Given the description of an element on the screen output the (x, y) to click on. 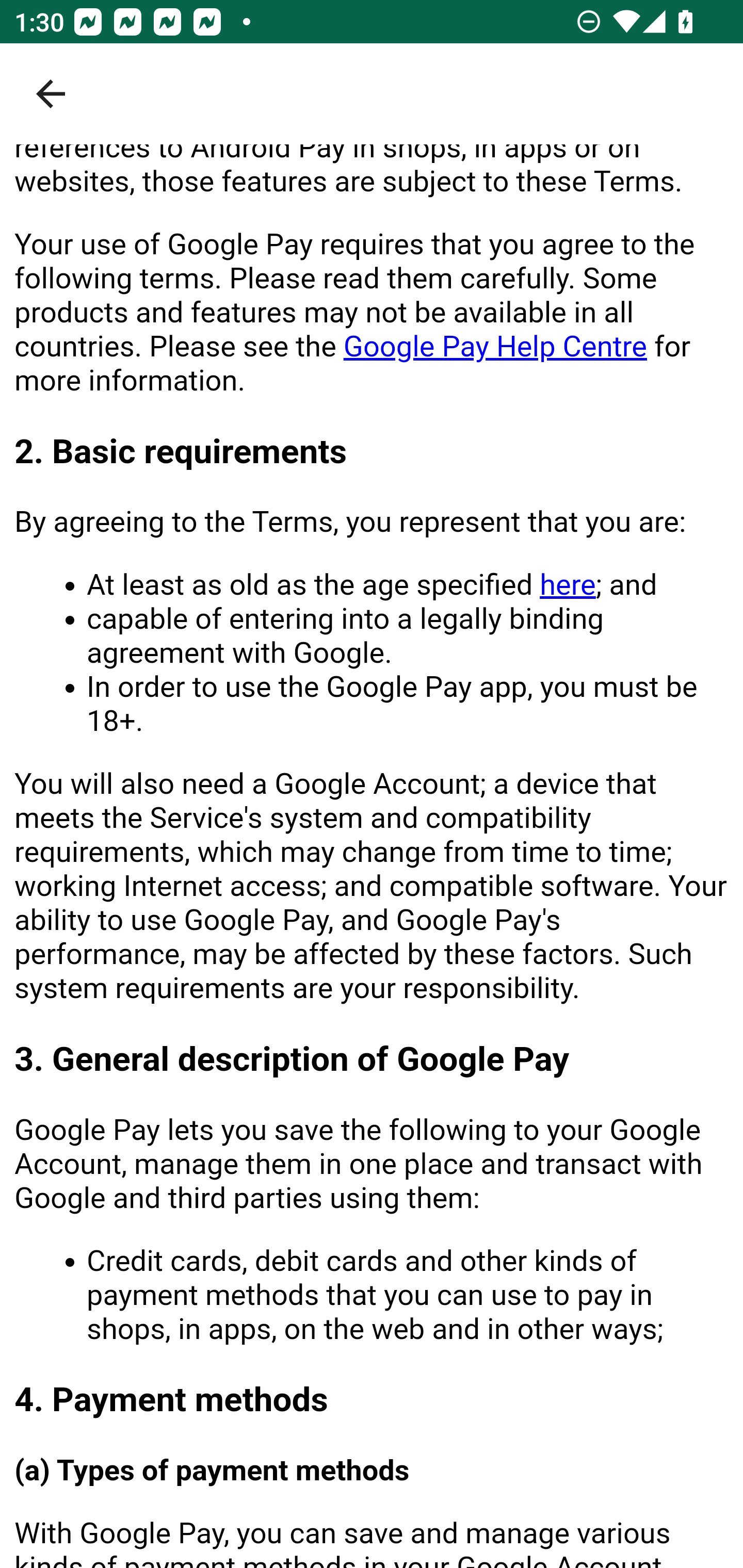
Navigate up (50, 93)
Google Pay Help Centre (495, 347)
here (566, 586)
